Given the description of an element on the screen output the (x, y) to click on. 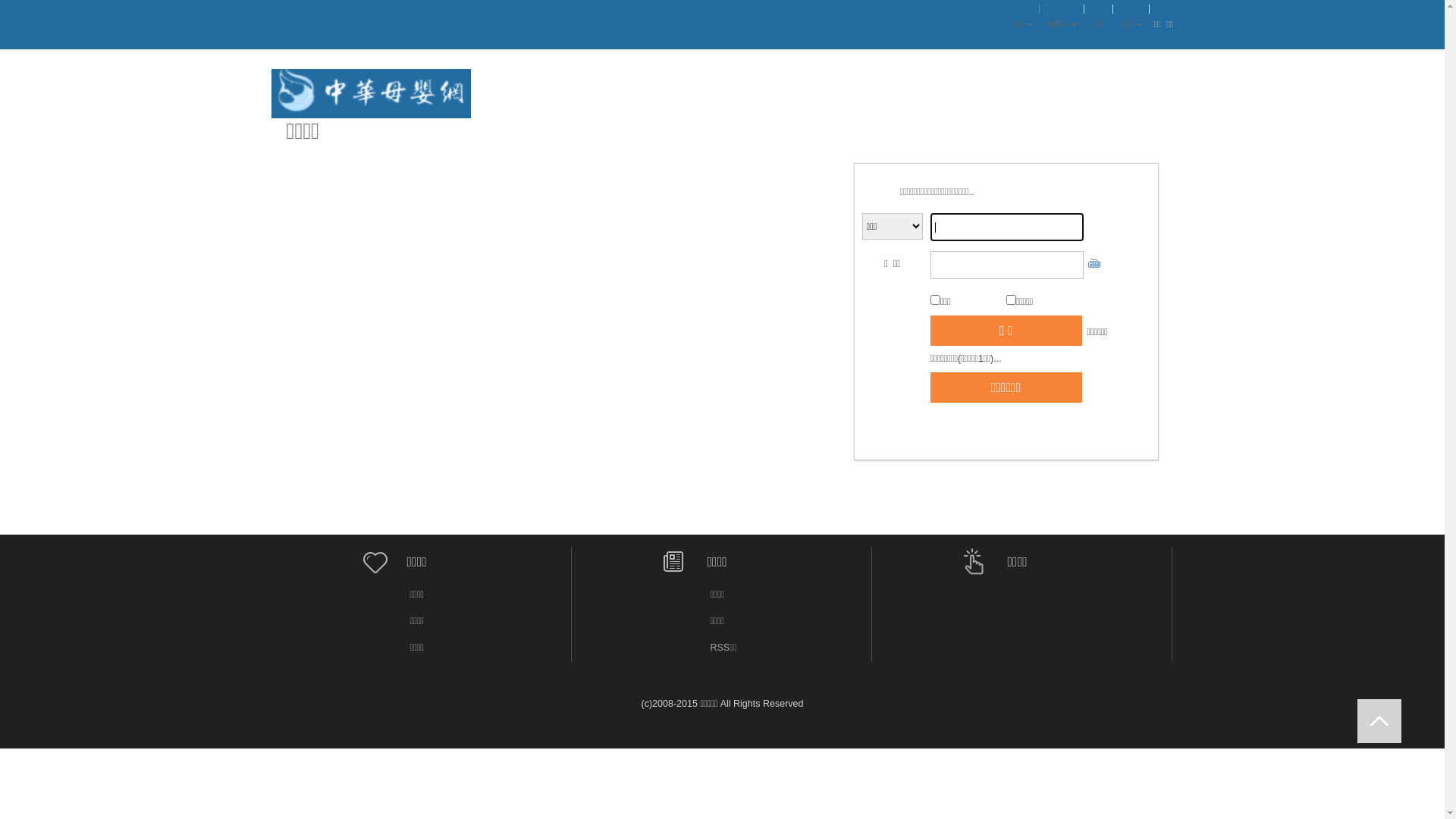
  Element type: text (1379, 721)
